Given the description of an element on the screen output the (x, y) to click on. 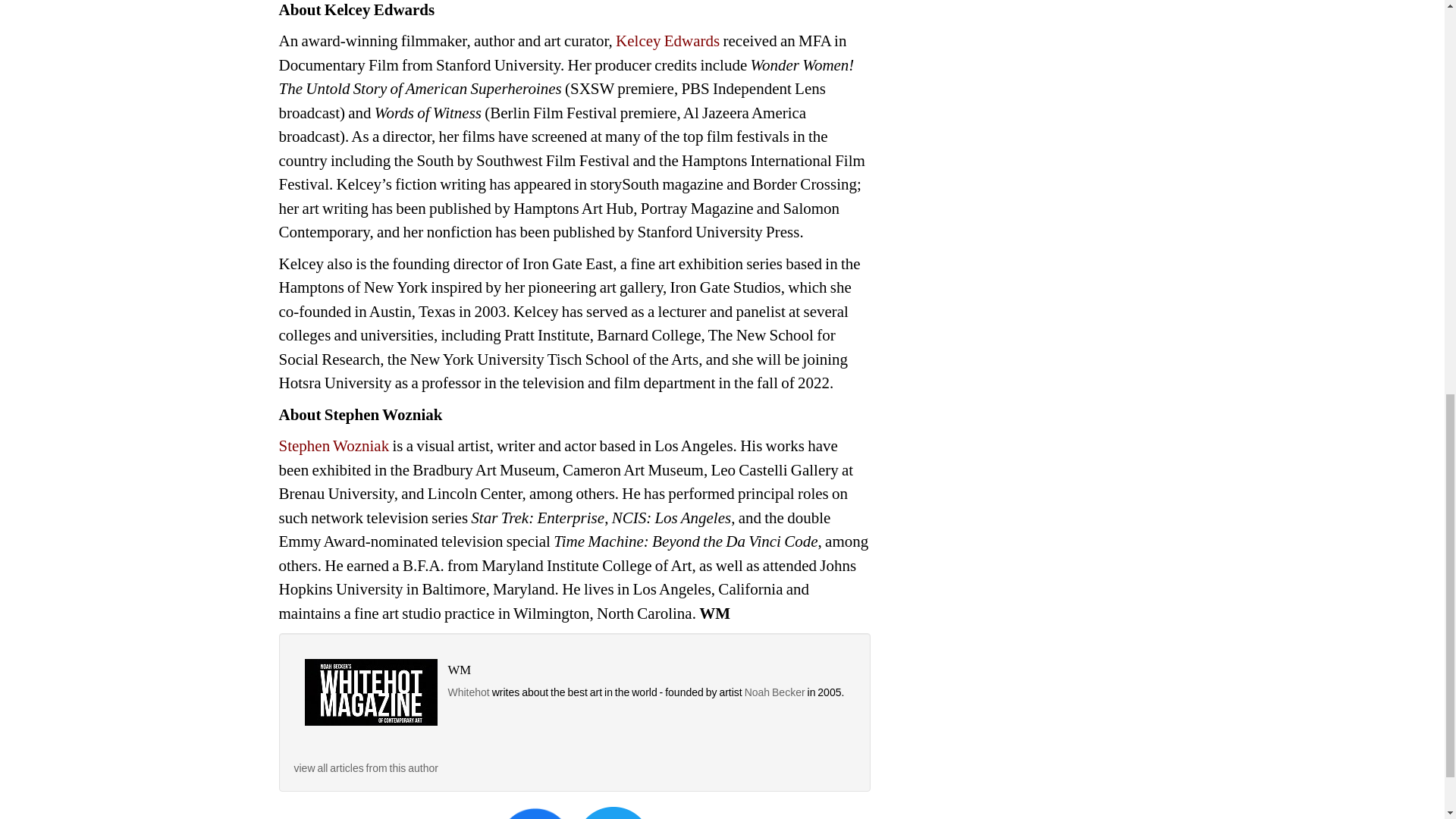
Kelcey Edwards (667, 40)
Stephen Wozniak (334, 445)
view all articles from this author (366, 767)
Noah Becker (776, 692)
Whitehot (467, 692)
